Given the description of an element on the screen output the (x, y) to click on. 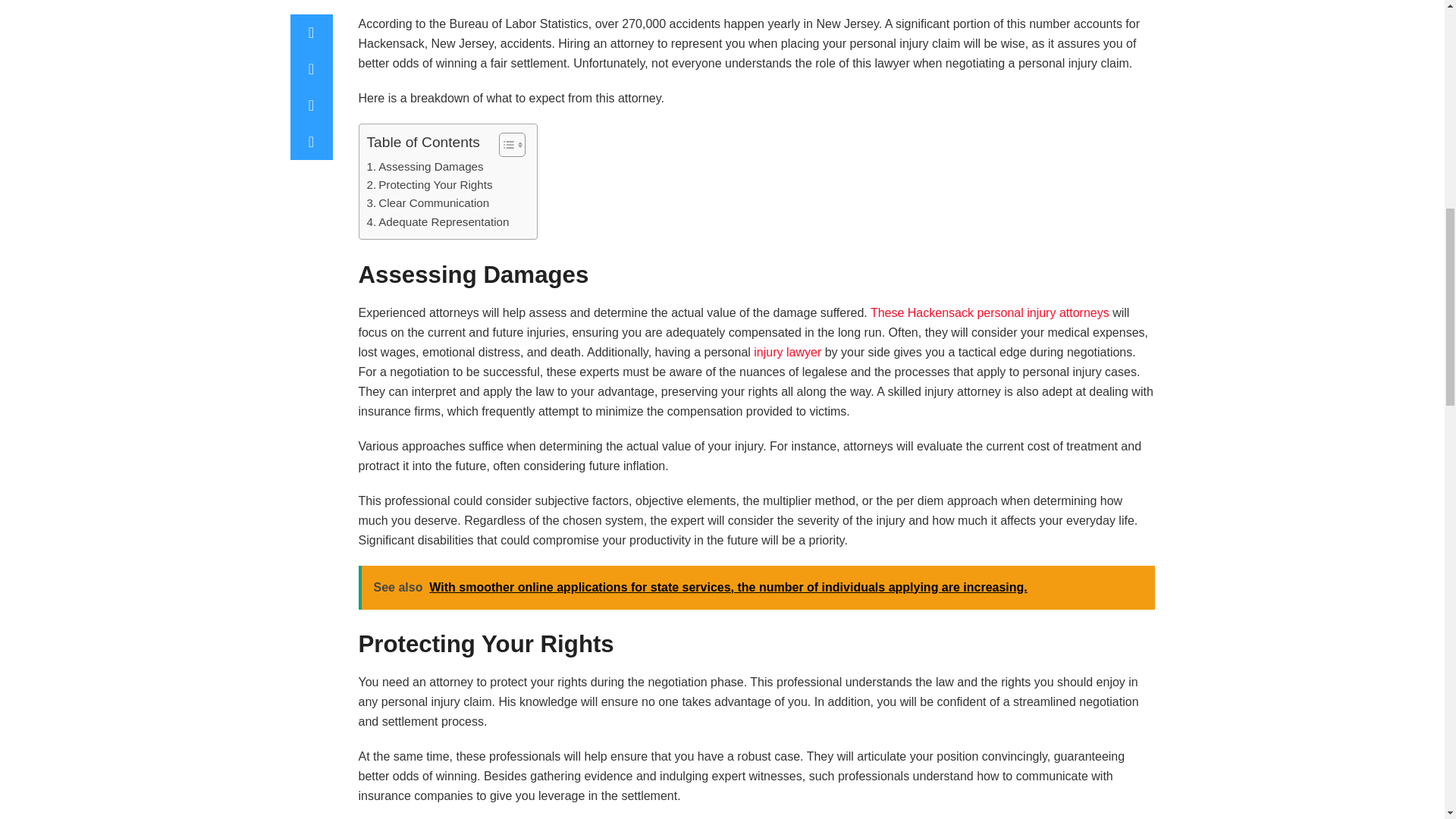
Clear Communication (427, 203)
Protecting Your Rights (429, 185)
Adequate Representation (437, 221)
Assessing Damages (424, 167)
Assessing Damages (424, 167)
